Given the description of an element on the screen output the (x, y) to click on. 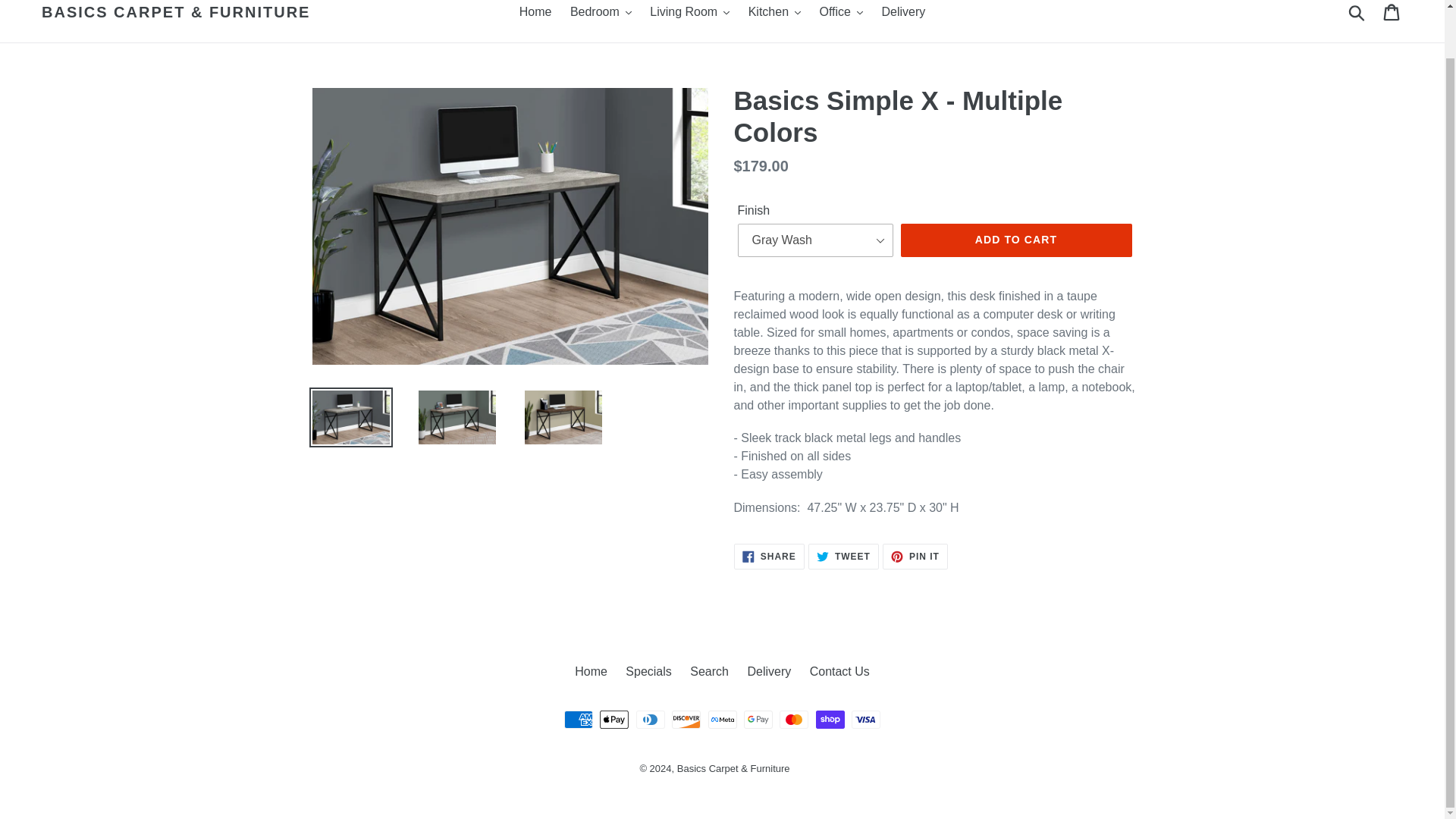
Cart (1392, 14)
Home (535, 11)
Submit (1357, 14)
Delivery (903, 11)
